Given the description of an element on the screen output the (x, y) to click on. 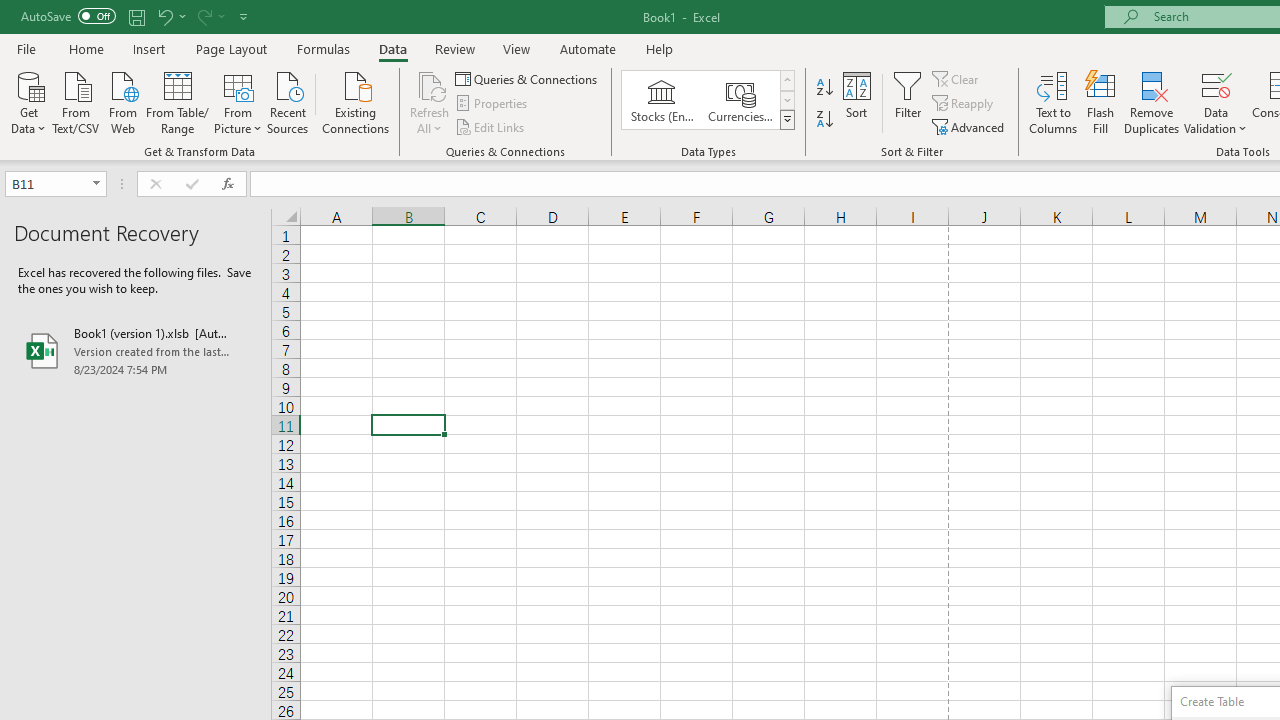
From Text/CSV (75, 101)
Sort A to Z (824, 87)
Text to Columns... (1053, 102)
AutomationID: ConvertToLinkedEntity (708, 99)
Get Data (28, 101)
Currencies (English) (740, 100)
Clear (957, 78)
